Given the description of an element on the screen output the (x, y) to click on. 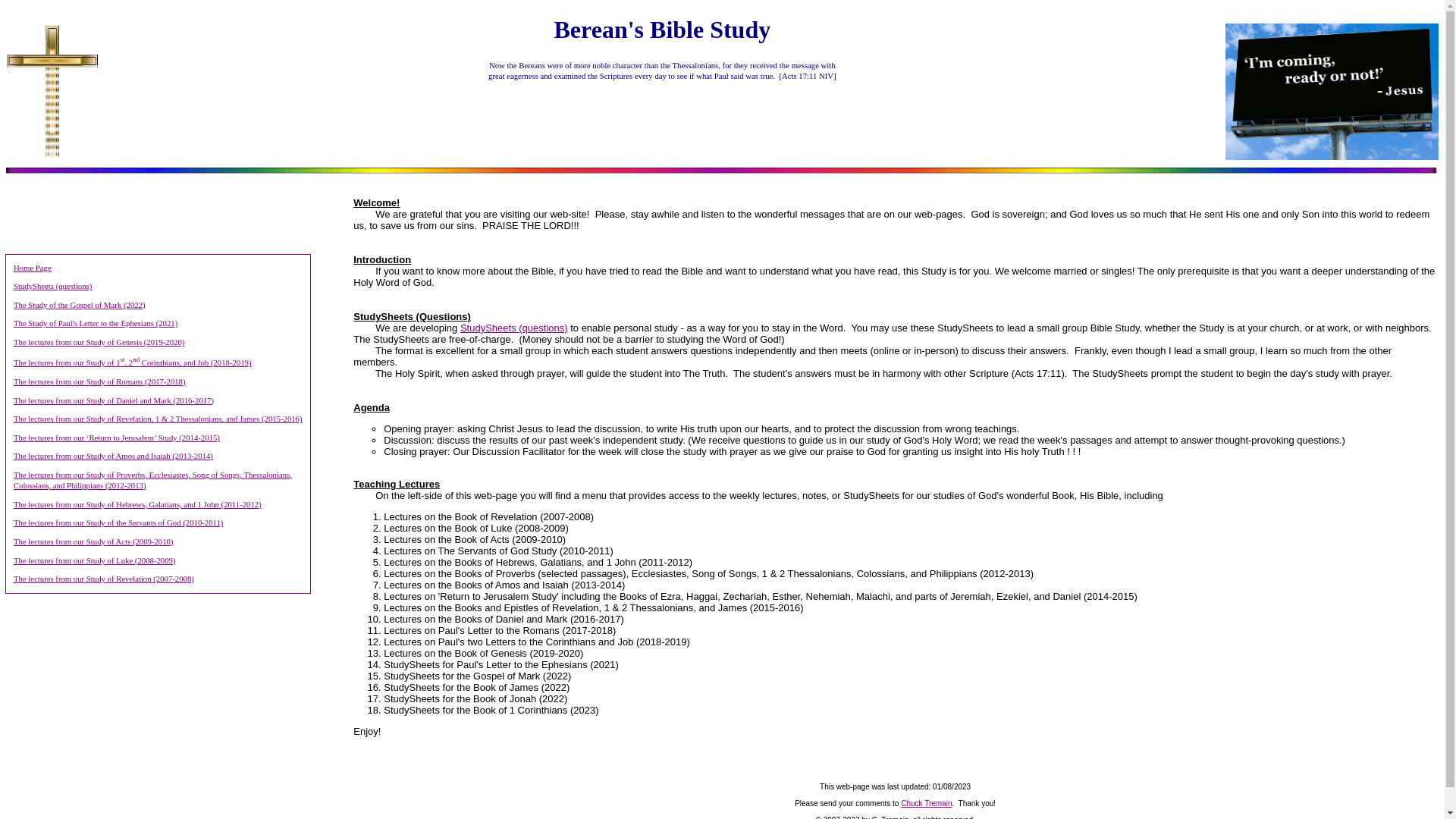
Chuck Tremain (926, 803)
Home Page (31, 266)
